Given the description of an element on the screen output the (x, y) to click on. 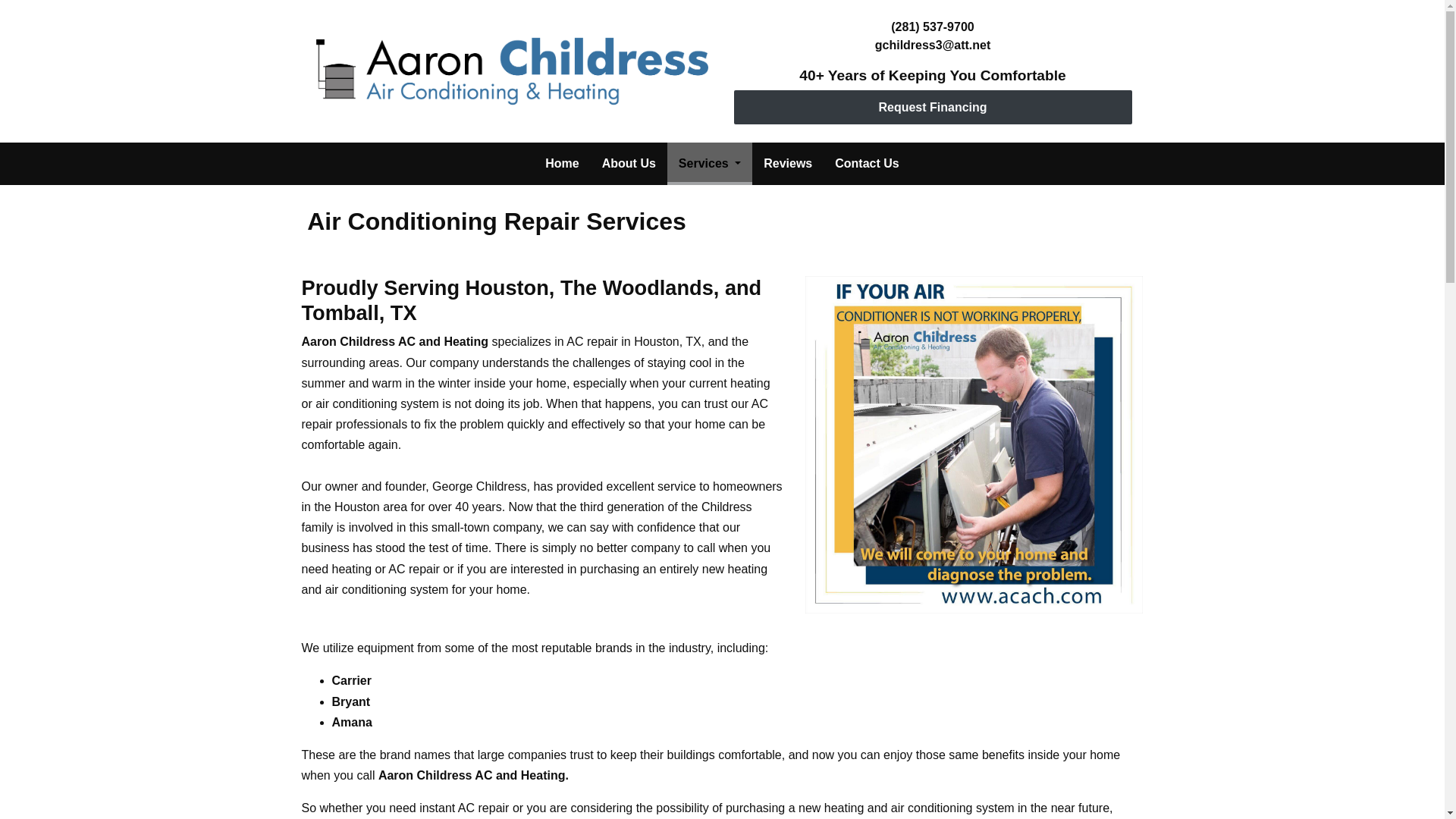
About Us (628, 163)
Reviews (788, 163)
Contact Us (867, 163)
Home (561, 163)
Request Financing (932, 107)
Services (709, 163)
